Given the description of an element on the screen output the (x, y) to click on. 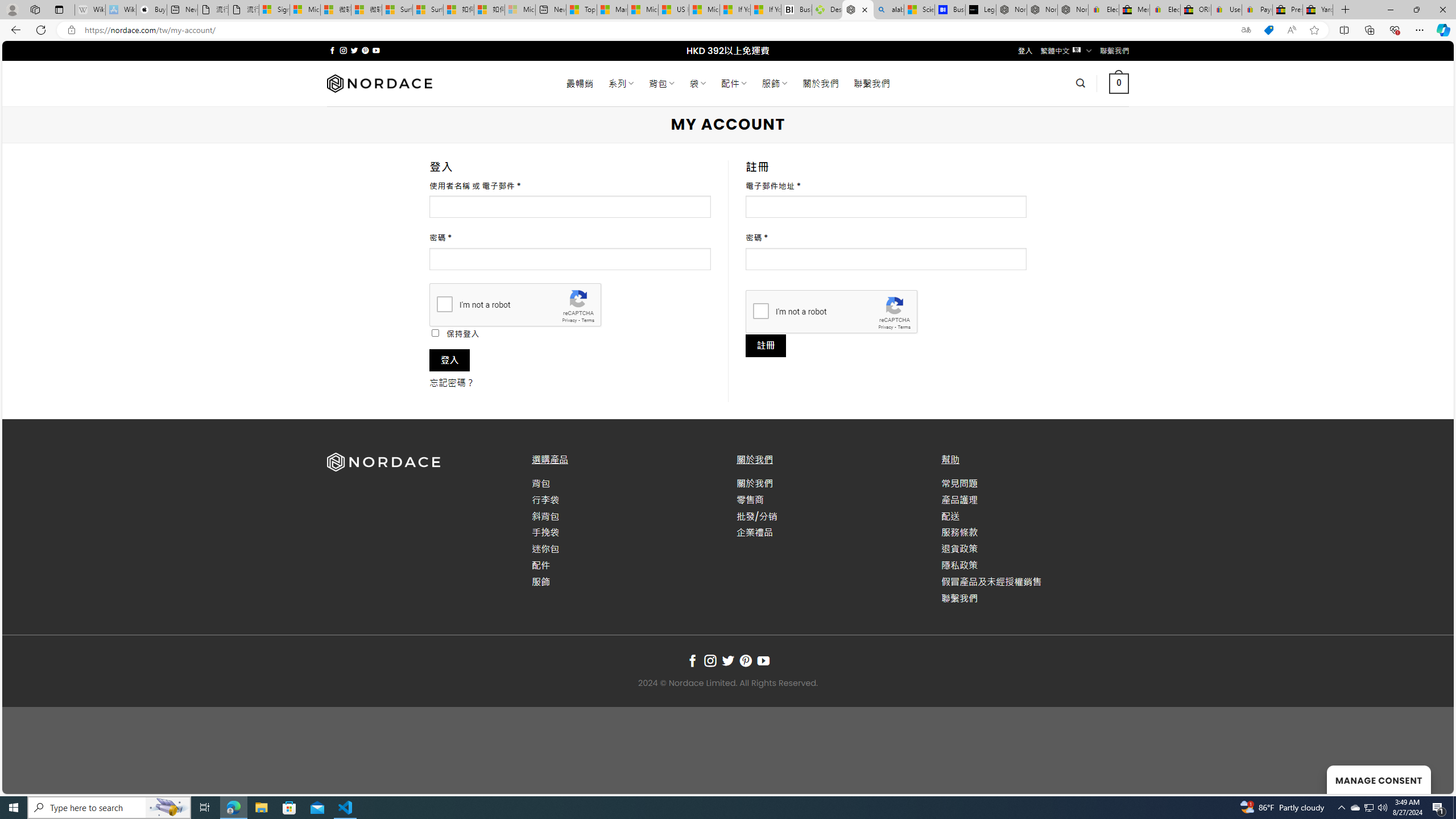
alabama high school quarterback dies - Search (887, 9)
Terms (903, 326)
Follow on Facebook (691, 660)
